Given the description of an element on the screen output the (x, y) to click on. 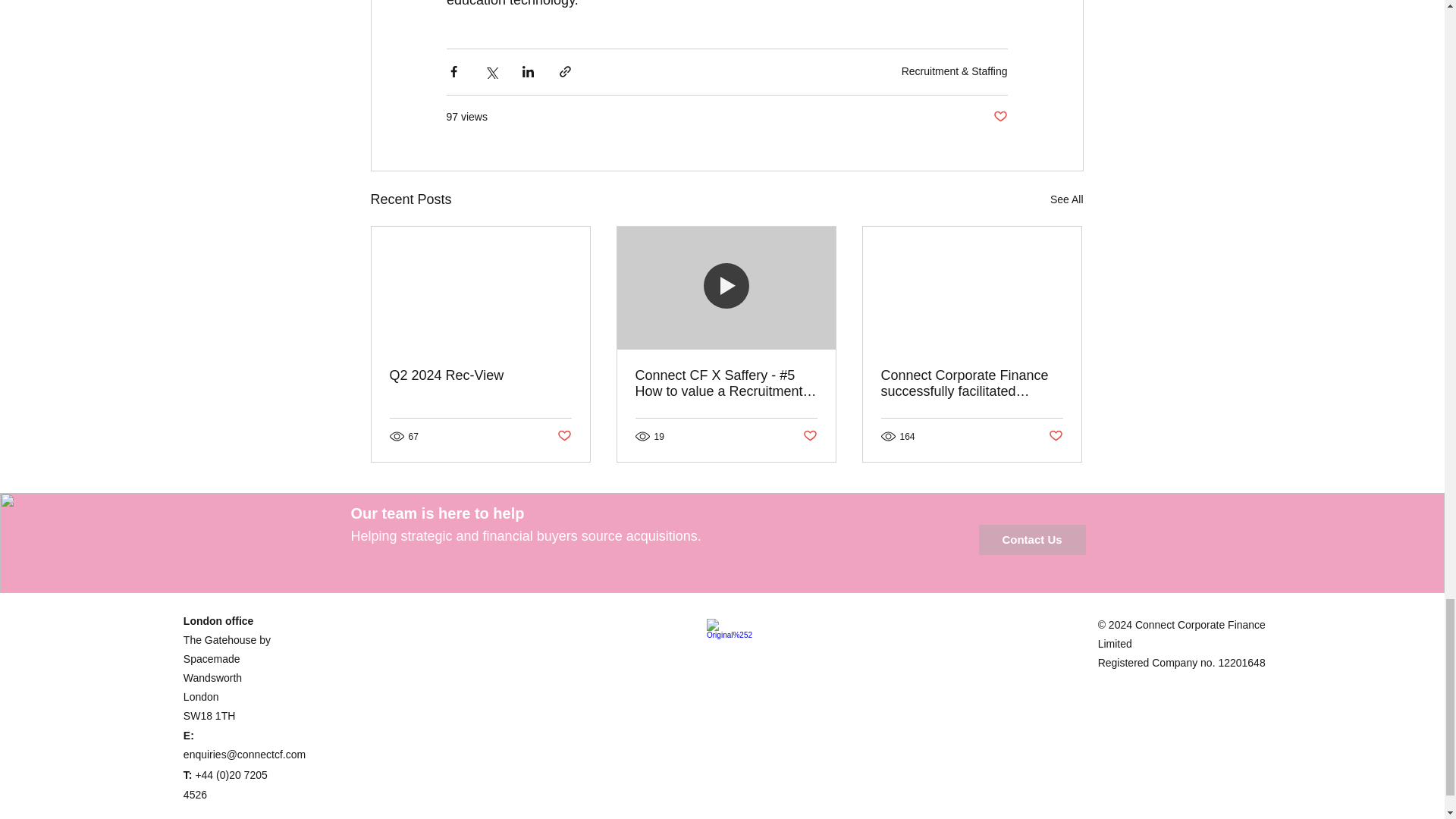
Contact Us (1031, 539)
Post not marked as liked (999, 116)
Post not marked as liked (1055, 436)
Post not marked as liked (563, 436)
See All (1066, 199)
Q2 2024 Rec-View (481, 375)
Post not marked as liked (809, 436)
